Given the description of an element on the screen output the (x, y) to click on. 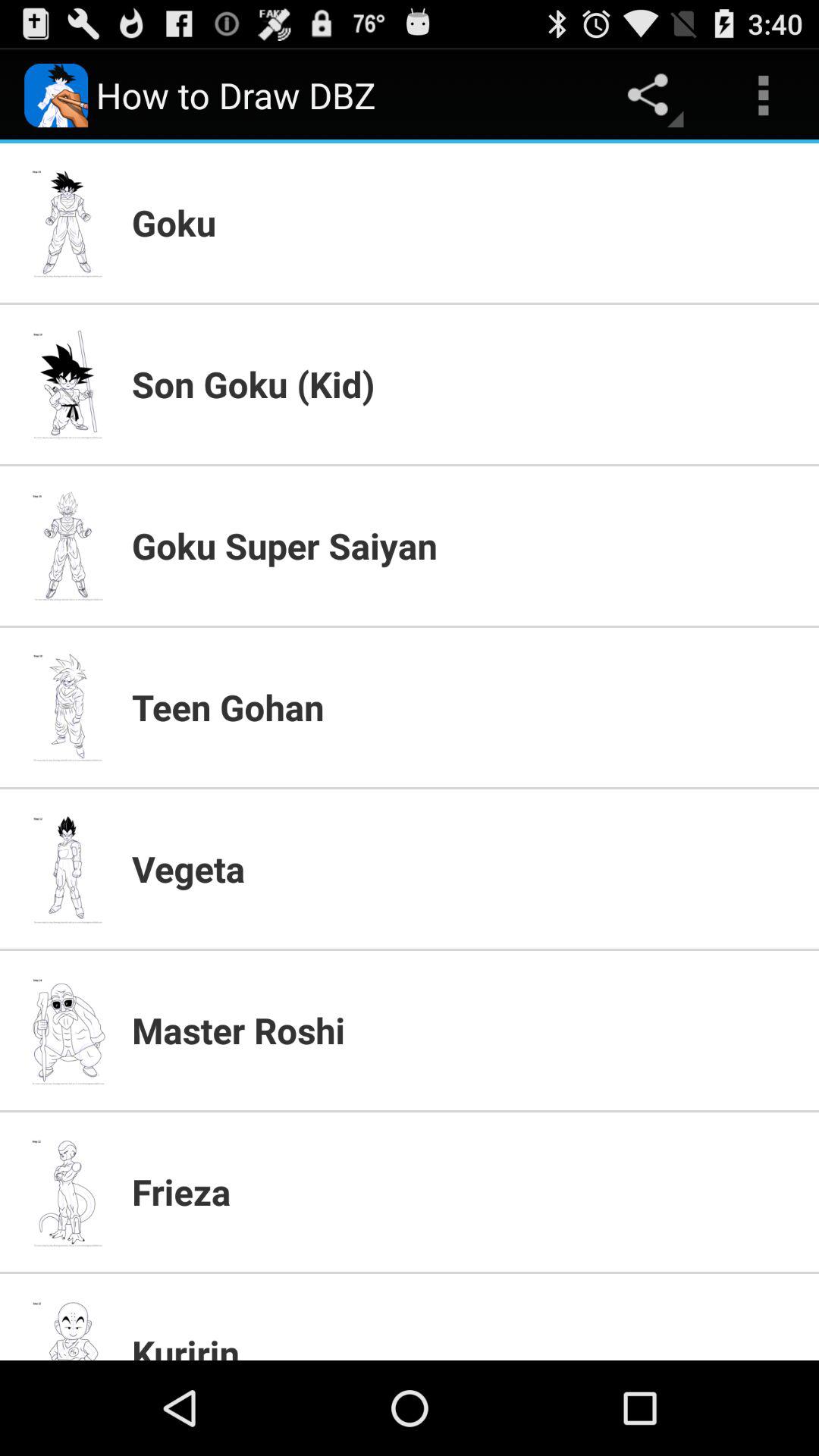
open item below goku super saiyan app (465, 707)
